Given the description of an element on the screen output the (x, y) to click on. 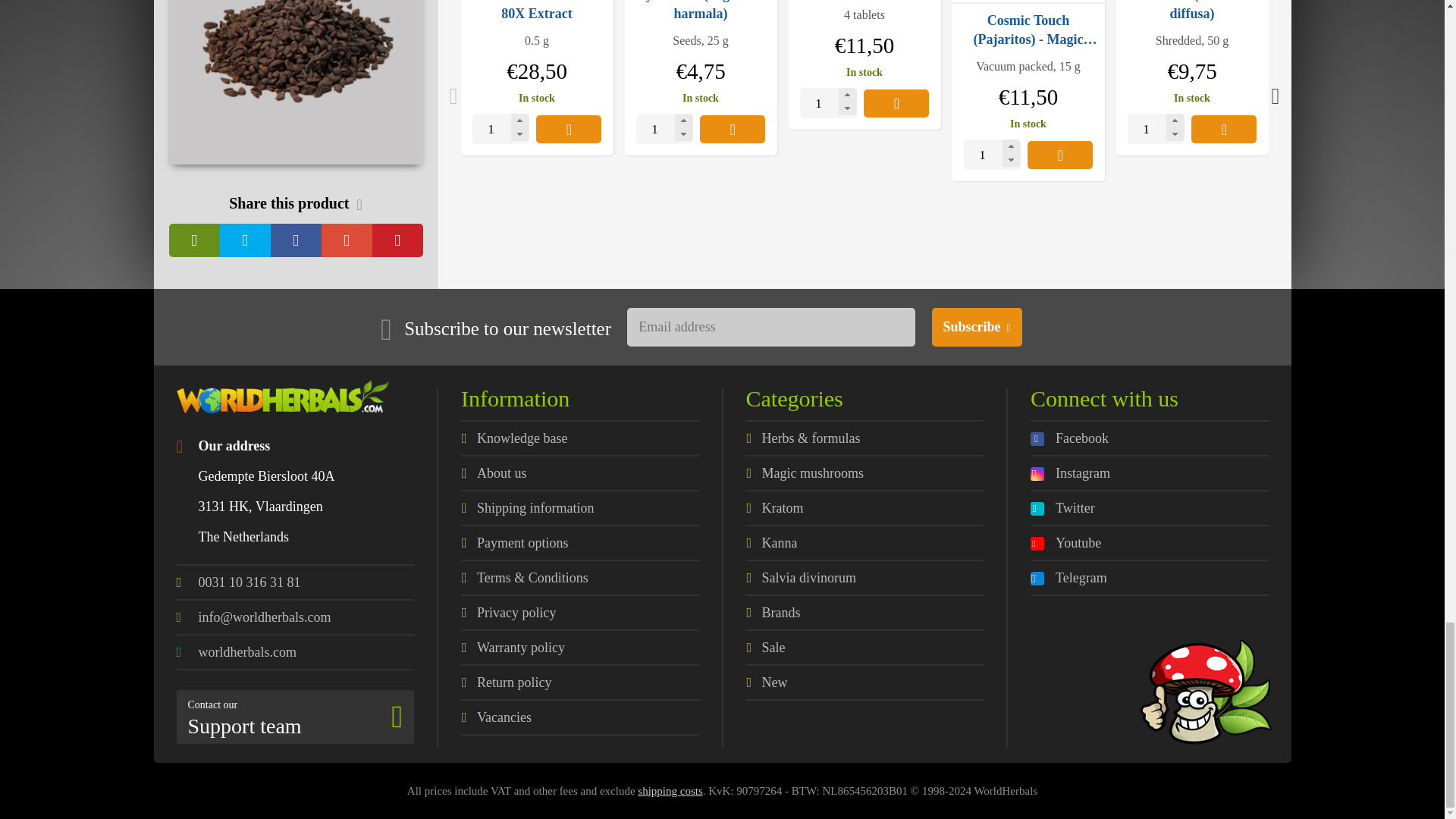
1 (500, 128)
1 (664, 128)
1 (1155, 128)
1 (991, 154)
1 (828, 102)
